Given the description of an element on the screen output the (x, y) to click on. 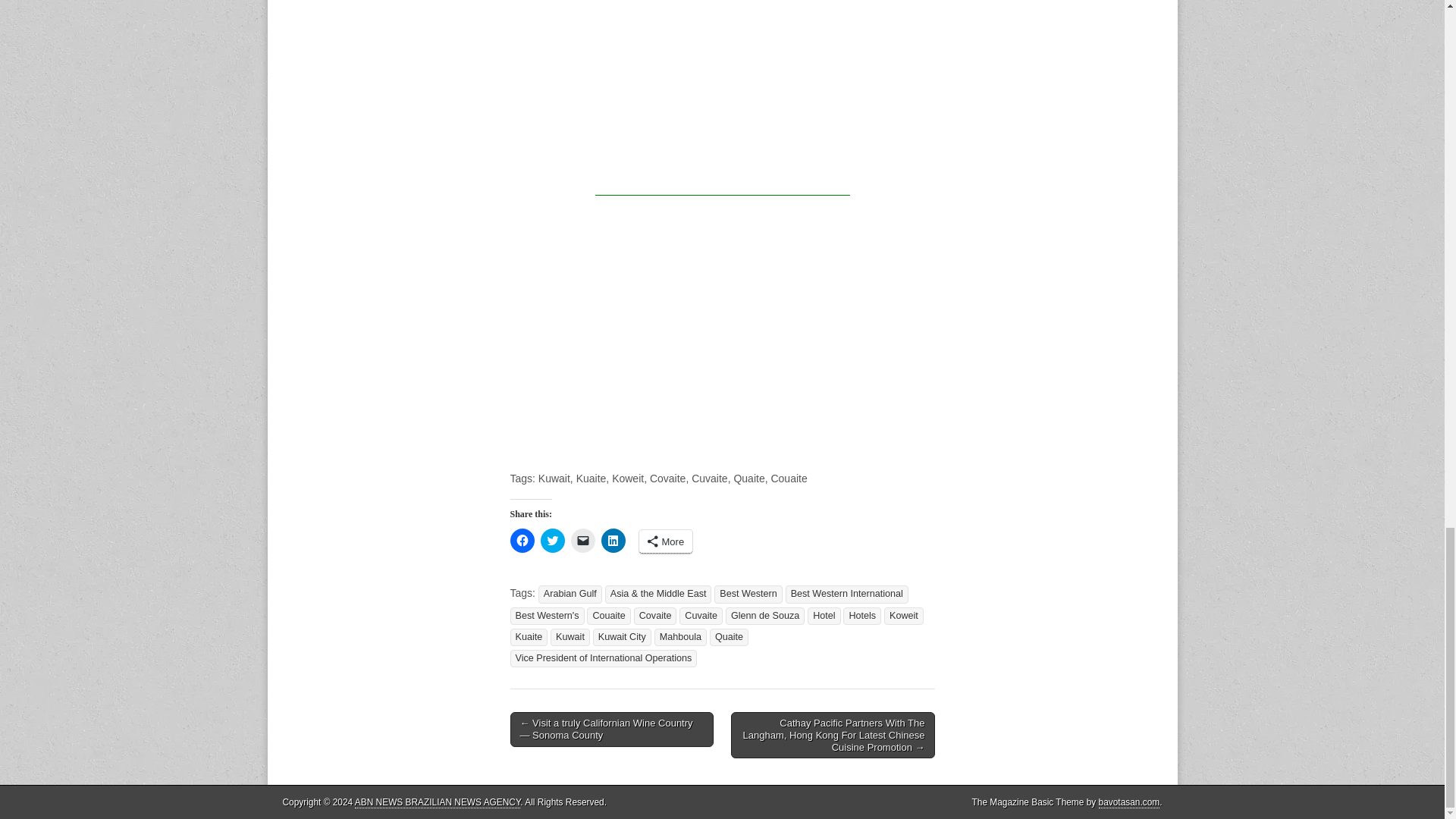
Click to share on Facebook (521, 540)
Advertisement (636, 318)
Couaite (608, 615)
Covaite (655, 615)
Cuvaite (700, 615)
Best Western International (847, 593)
Best Western's (546, 615)
Click to share on LinkedIn (611, 540)
Click to share on Twitter (552, 540)
More (666, 541)
Click to email a link to a friend (582, 540)
Best Western (747, 593)
Arabian Gulf (570, 593)
Glenn de Souza (765, 615)
